Given the description of an element on the screen output the (x, y) to click on. 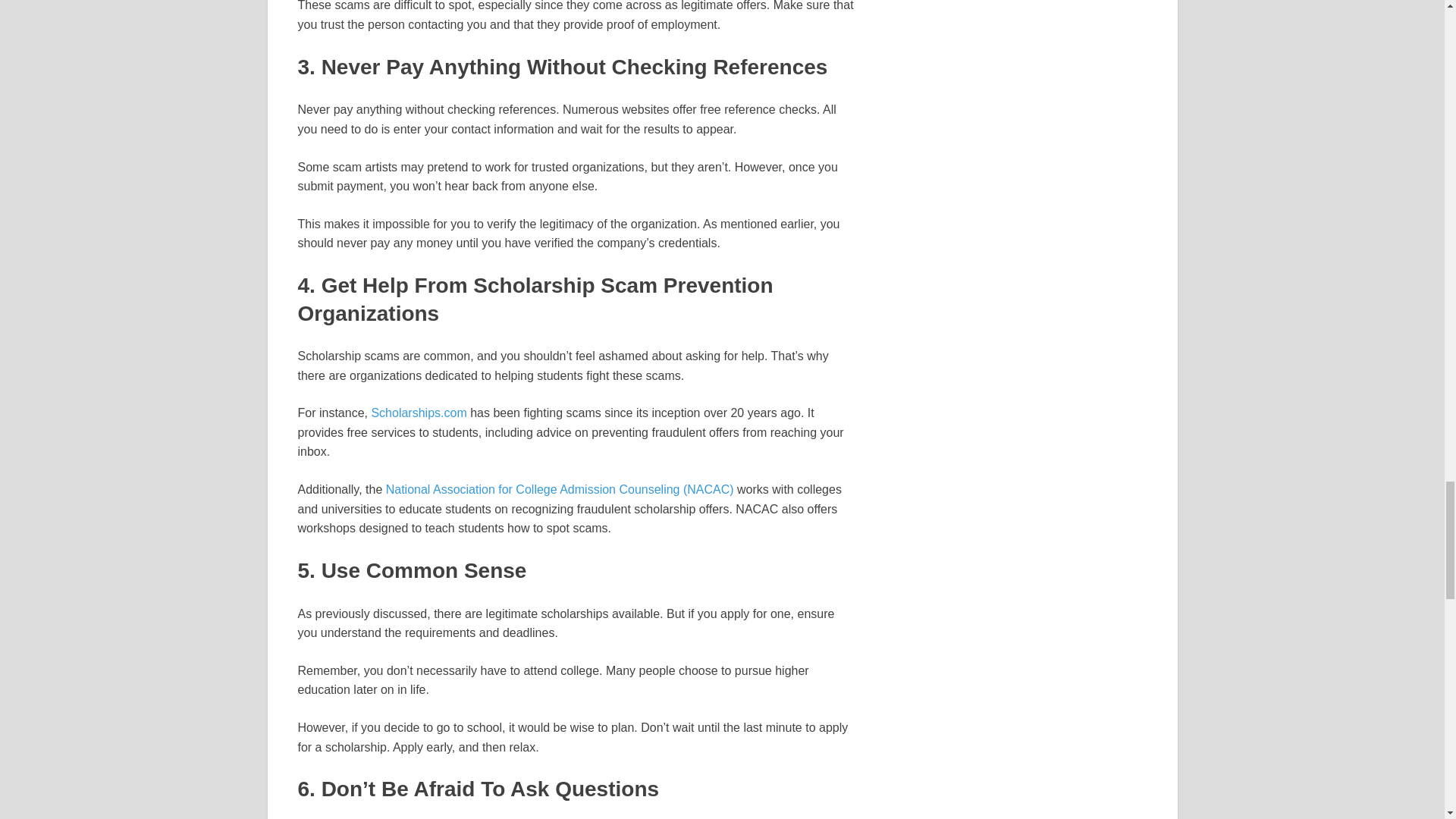
Scholarships.com (418, 412)
